Given the description of an element on the screen output the (x, y) to click on. 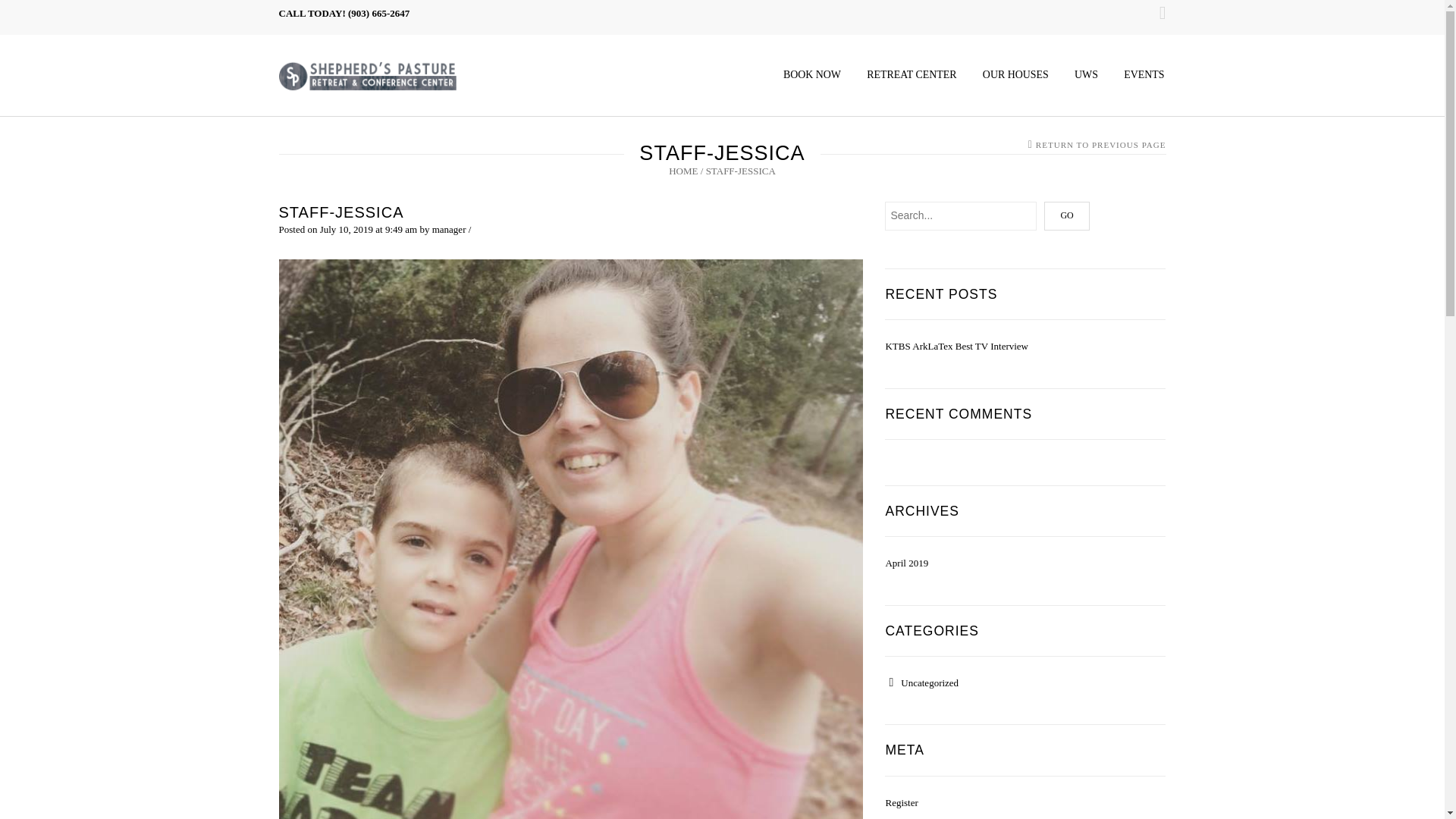
staff-jessica (571, 550)
Go (1066, 215)
Posts by manager (448, 229)
